Given the description of an element on the screen output the (x, y) to click on. 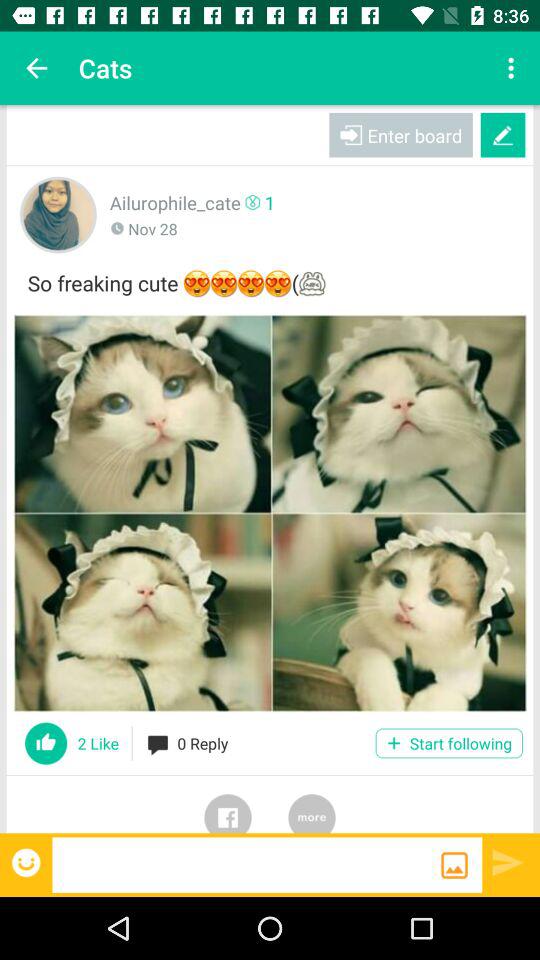
express emotions over post (28, 862)
